Given the description of an element on the screen output the (x, y) to click on. 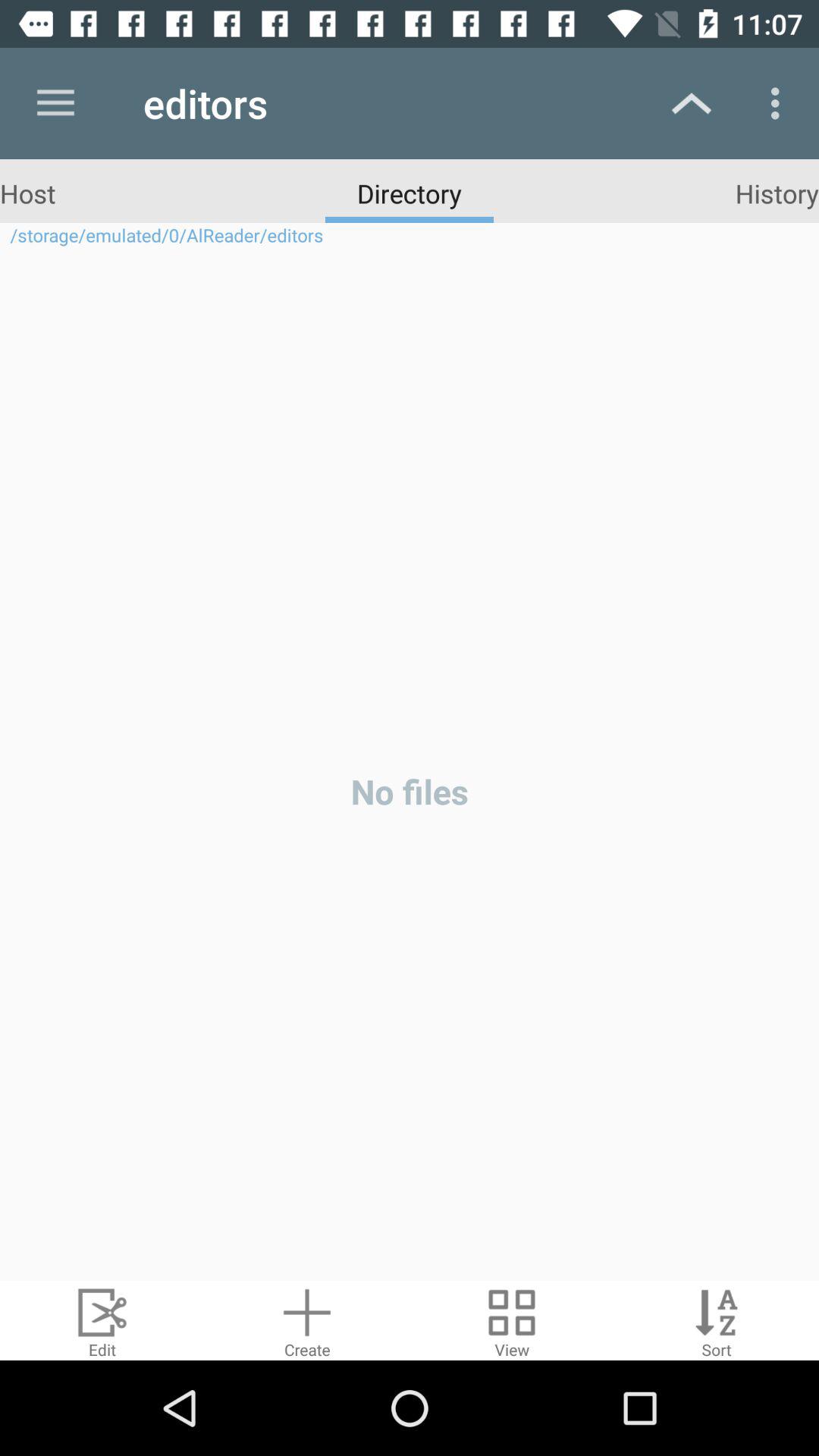
flip to the history icon (777, 193)
